Given the description of an element on the screen output the (x, y) to click on. 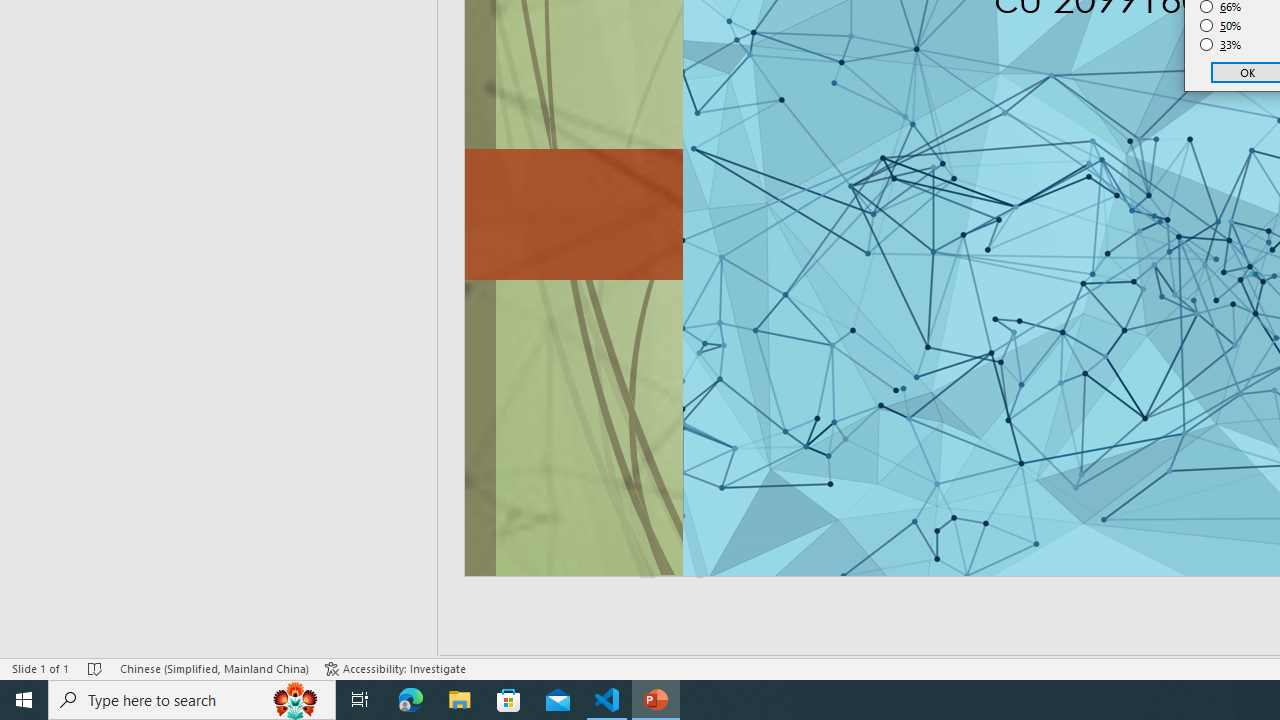
50% (1221, 25)
33% (1221, 44)
